Given the description of an element on the screen output the (x, y) to click on. 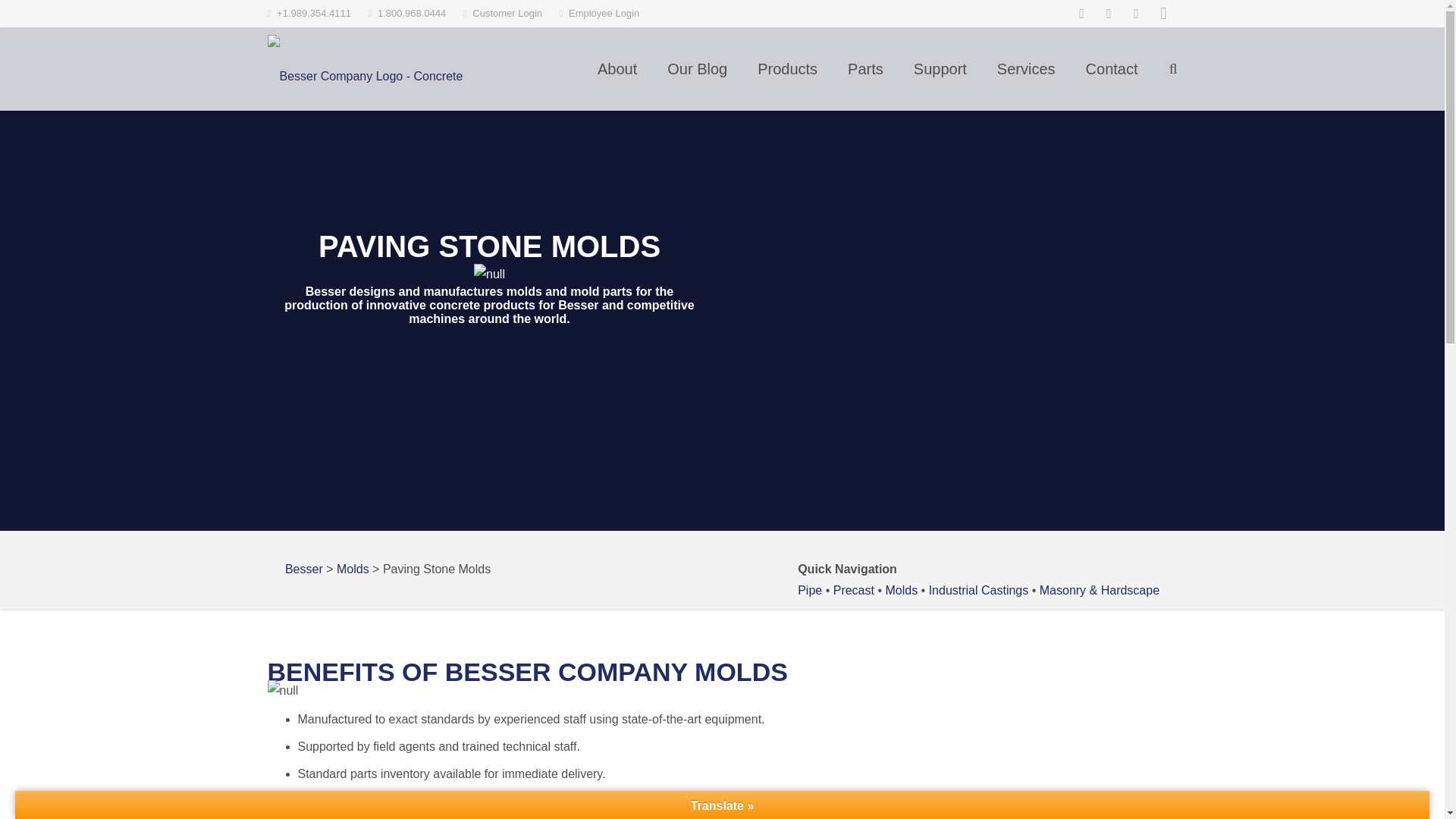
Go to Besser. (304, 568)
Employee Login (604, 12)
Products (787, 68)
Our Blog (697, 68)
Spanish (693, 10)
Support (939, 68)
Contact (1111, 68)
English (662, 10)
Molds (901, 590)
Customer Login (506, 12)
Pipe (809, 590)
German (678, 10)
Precast (853, 590)
Go to Molds. (352, 568)
Services (1025, 68)
